Given the description of an element on the screen output the (x, y) to click on. 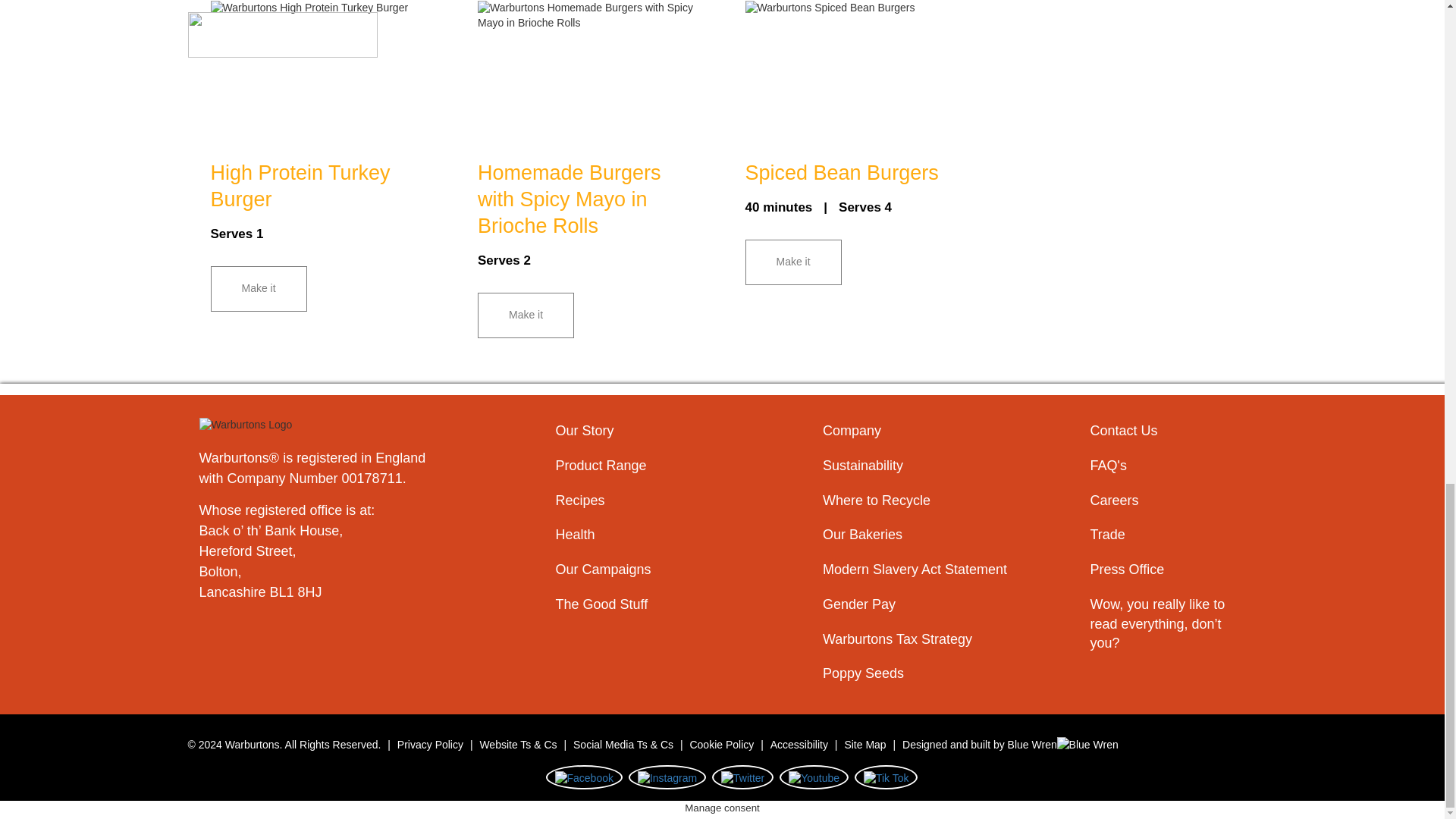
Make it (525, 315)
Send (716, 214)
Make it (259, 289)
